Given the description of an element on the screen output the (x, y) to click on. 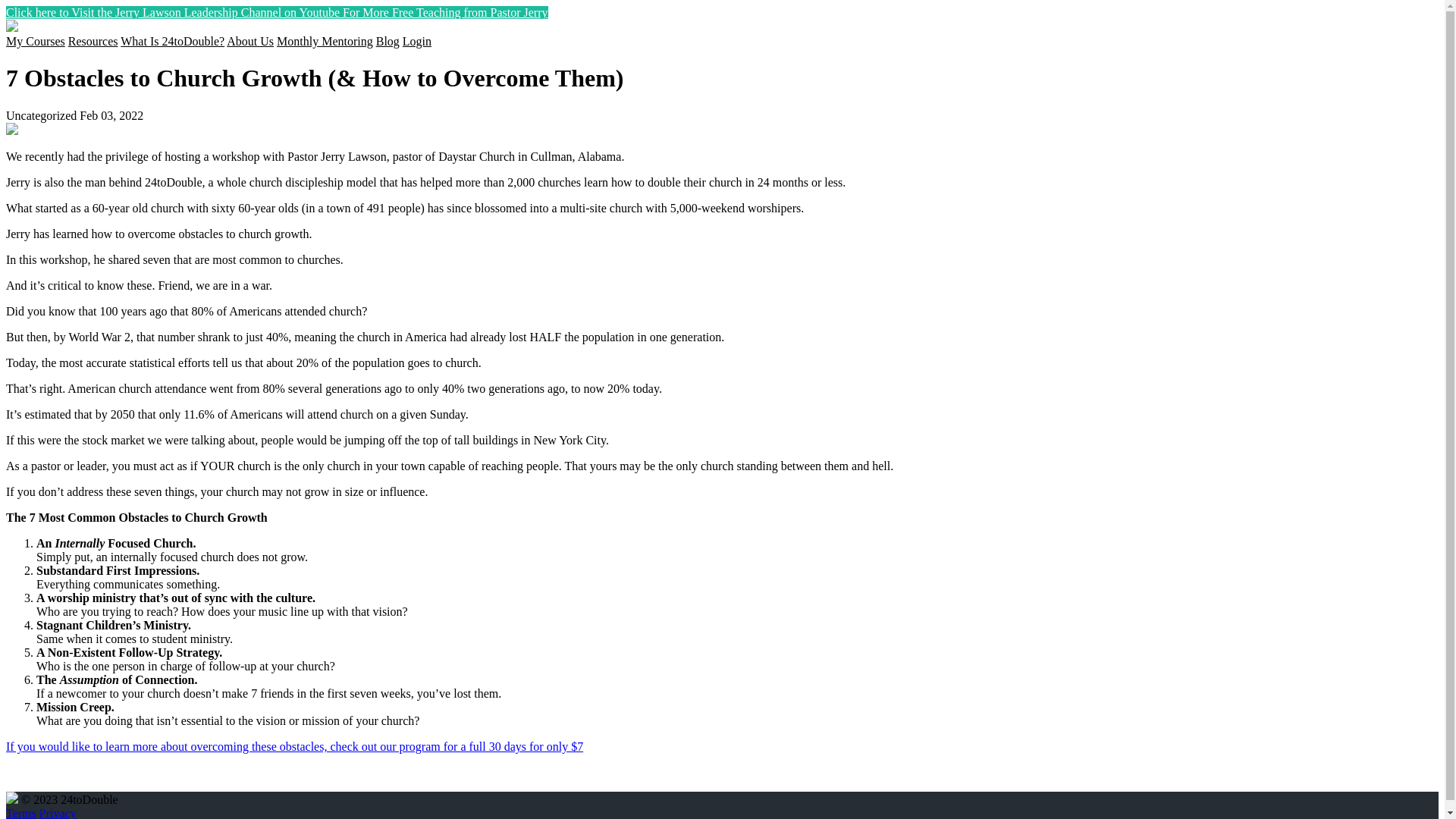
My Courses Element type: text (35, 40)
Blog Element type: text (387, 40)
Monthly Mentoring Element type: text (324, 40)
What Is 24toDouble? Element type: text (172, 40)
Resources Element type: text (93, 40)
Login Element type: text (416, 40)
About Us Element type: text (249, 40)
